Given the description of an element on the screen output the (x, y) to click on. 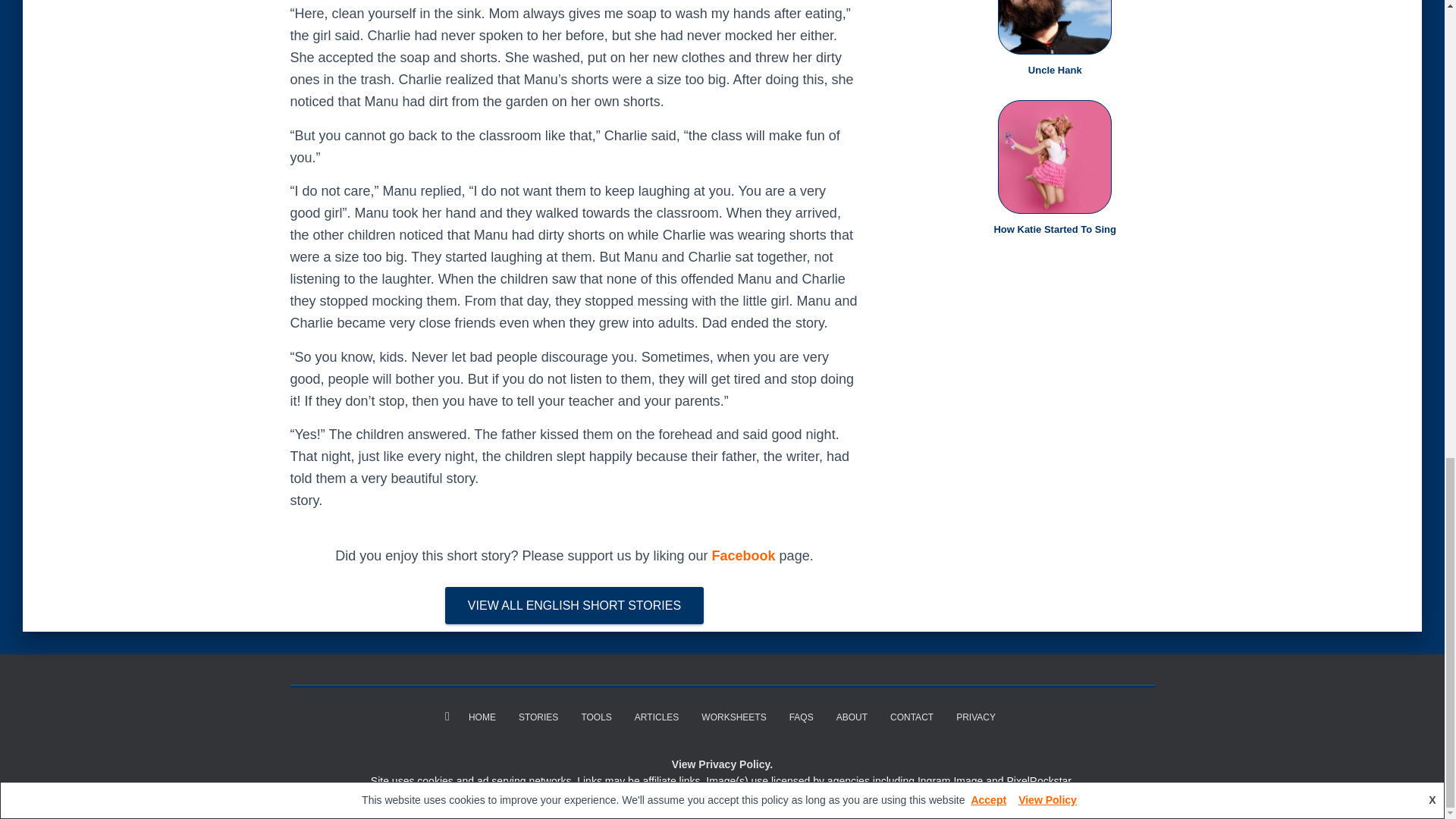
Uncle Hank (1054, 70)
VIEW ALL ENGLISH SHORT STORIES (574, 605)
Facebook (743, 555)
